Given the description of an element on the screen output the (x, y) to click on. 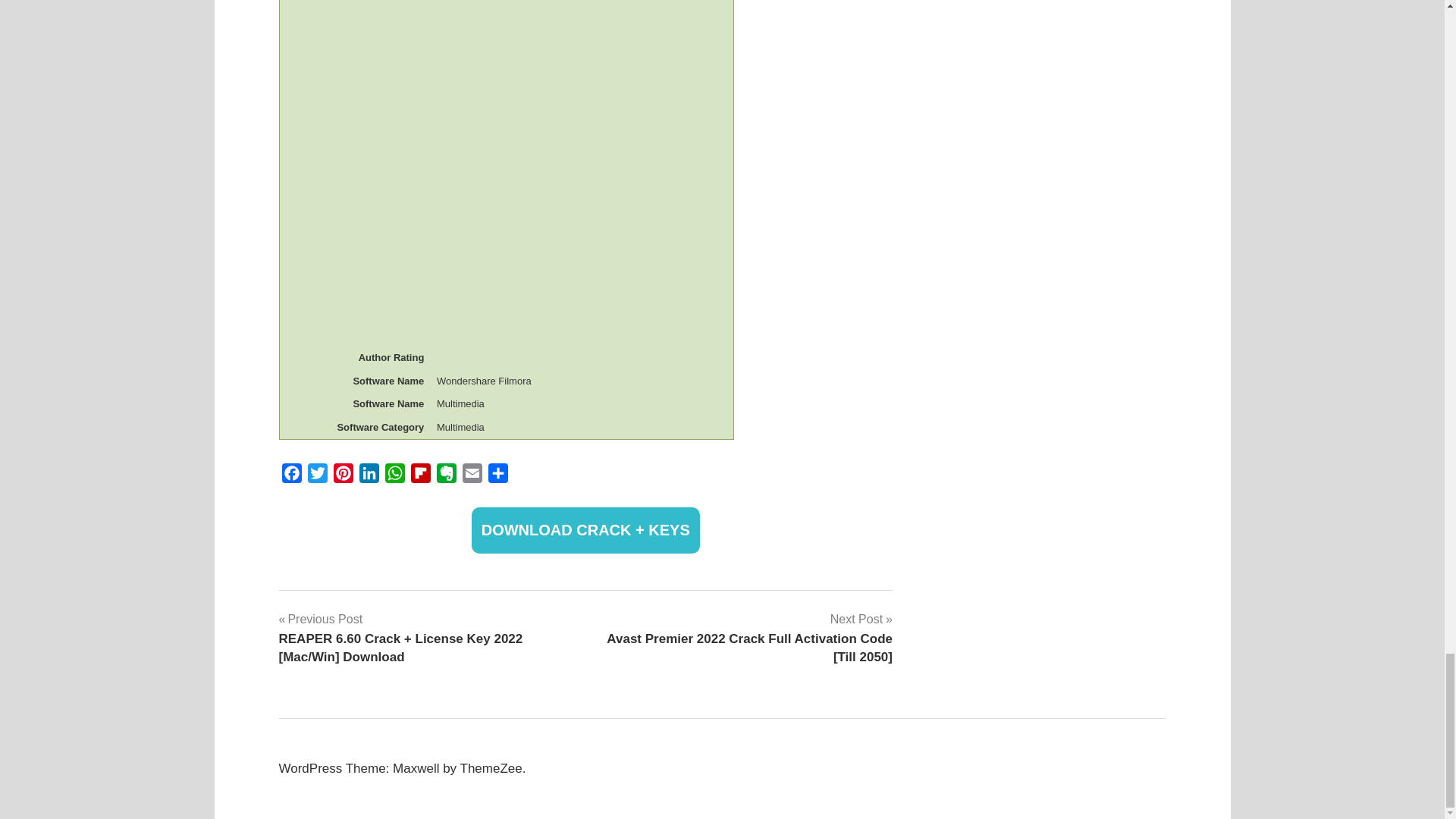
WhatsApp (394, 475)
Pinterest (343, 475)
Email (472, 475)
Pinterest (343, 475)
Flipboard (420, 475)
WhatsApp (394, 475)
Facebook (291, 475)
LinkedIn (368, 475)
Twitter (317, 475)
LinkedIn (368, 475)
